Given the description of an element on the screen output the (x, y) to click on. 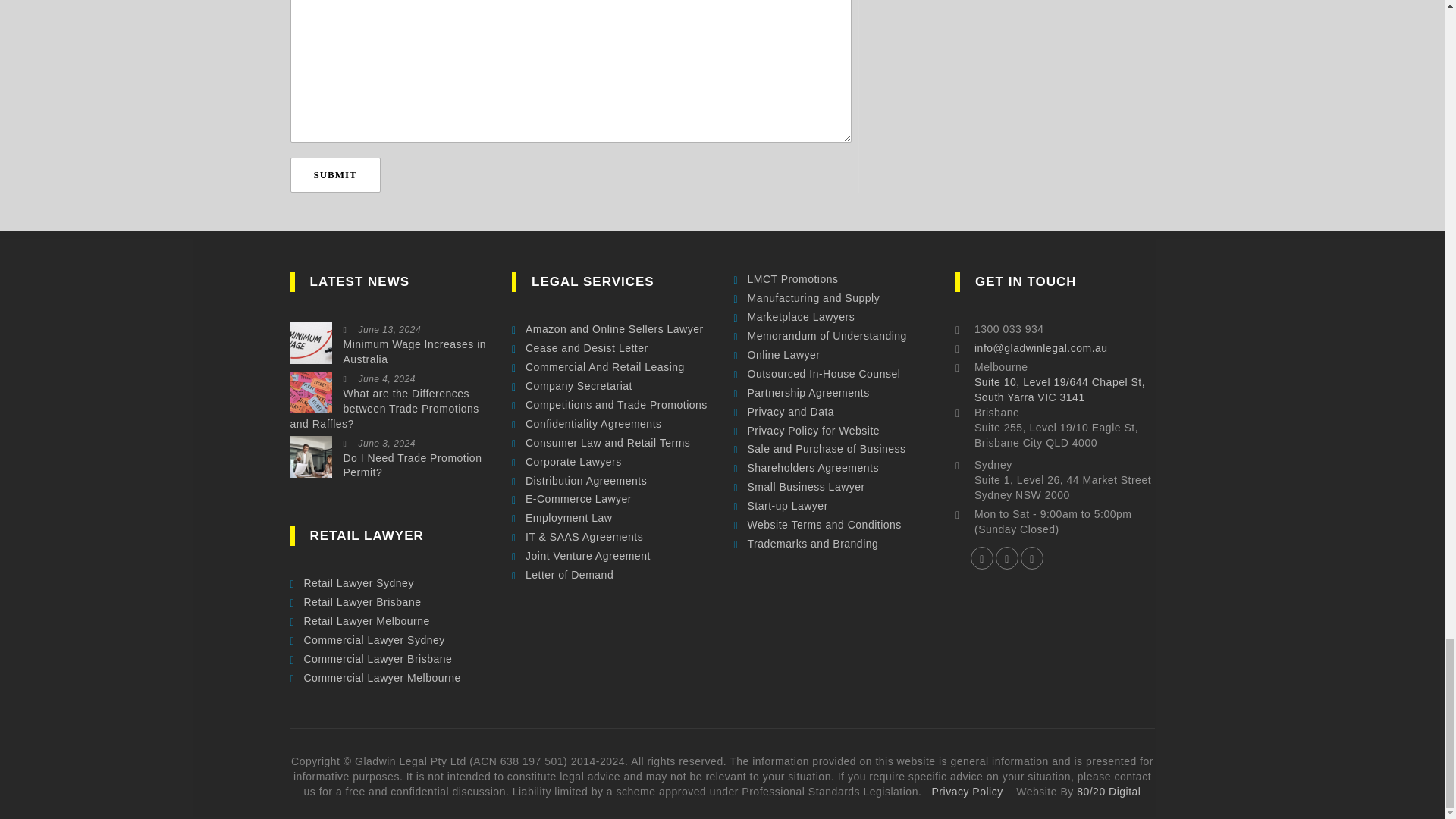
Submit (334, 175)
